Given the description of an element on the screen output the (x, y) to click on. 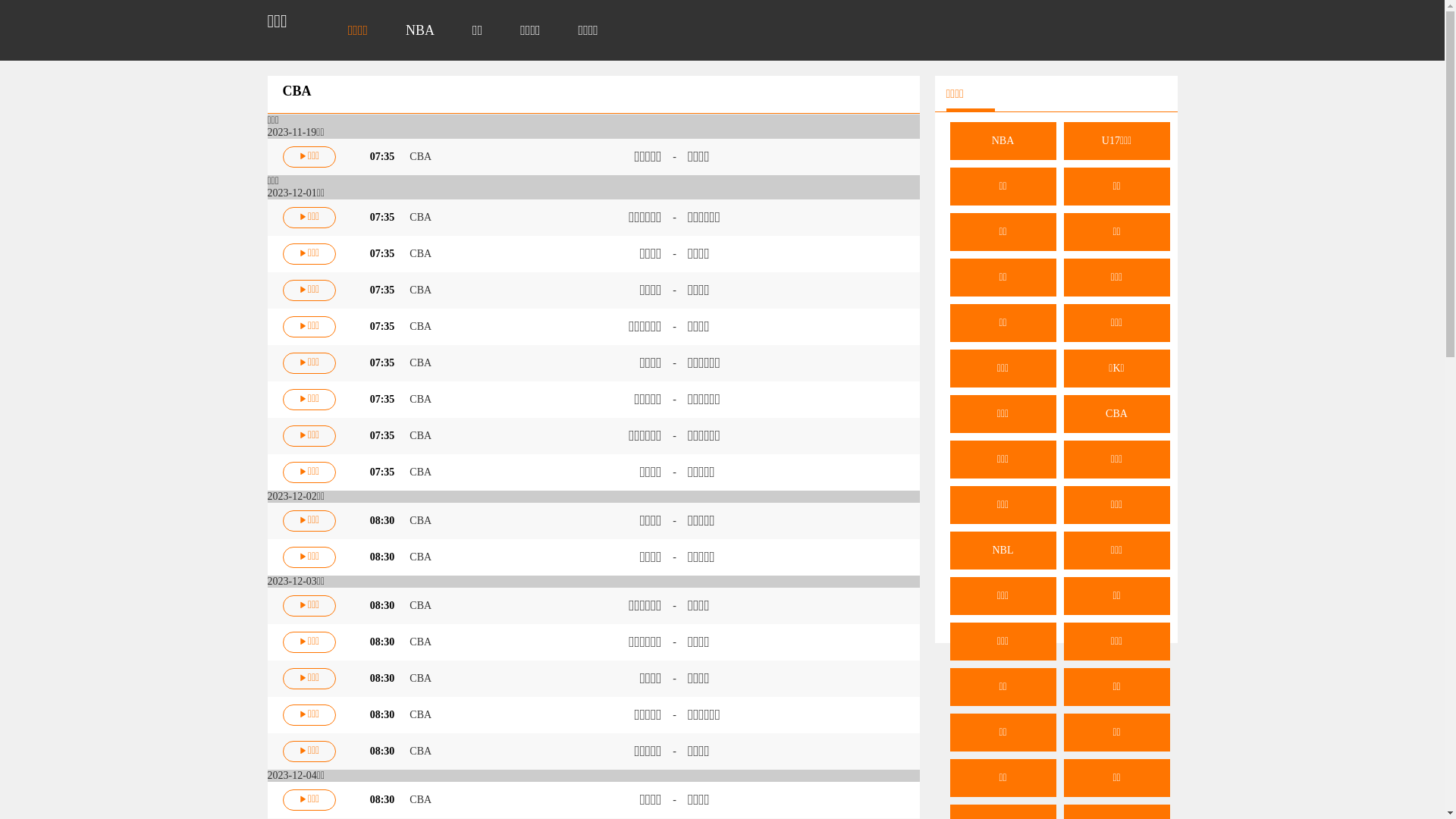
CBA Element type: text (420, 326)
NBA Element type: text (419, 30)
CBA Element type: text (420, 398)
CBA Element type: text (420, 471)
CBA Element type: text (420, 678)
CBA Element type: text (420, 605)
CBA Element type: text (420, 435)
CBA Element type: text (420, 750)
NBL Element type: text (1002, 550)
CBA Element type: text (420, 520)
CBA Element type: text (420, 556)
CBA Element type: text (420, 253)
CBA Element type: text (420, 156)
CBA Element type: text (420, 289)
CBA Element type: text (1116, 414)
CBA Element type: text (420, 714)
CBA Element type: text (420, 216)
CBA Element type: text (420, 362)
CBA Element type: text (420, 799)
NBA Element type: text (1002, 141)
CBA Element type: text (420, 641)
